Given the description of an element on the screen output the (x, y) to click on. 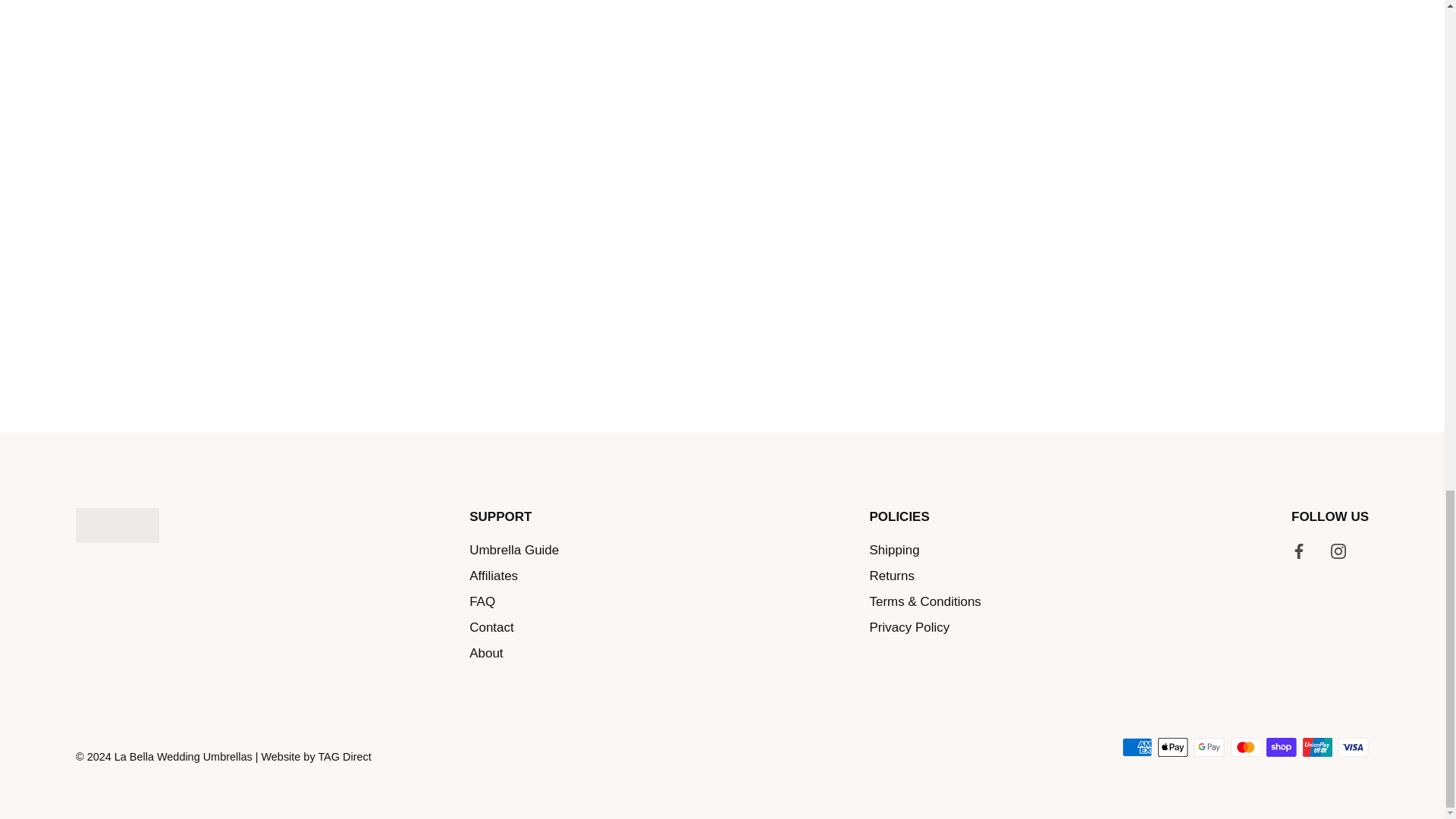
Visa (1353, 746)
Mastercard (1245, 746)
Google Pay (1208, 746)
Instagram (1337, 550)
American Express (1136, 746)
Shop Pay (1280, 746)
Union Pay (1317, 746)
Apple Pay (1172, 746)
